Given the description of an element on the screen output the (x, y) to click on. 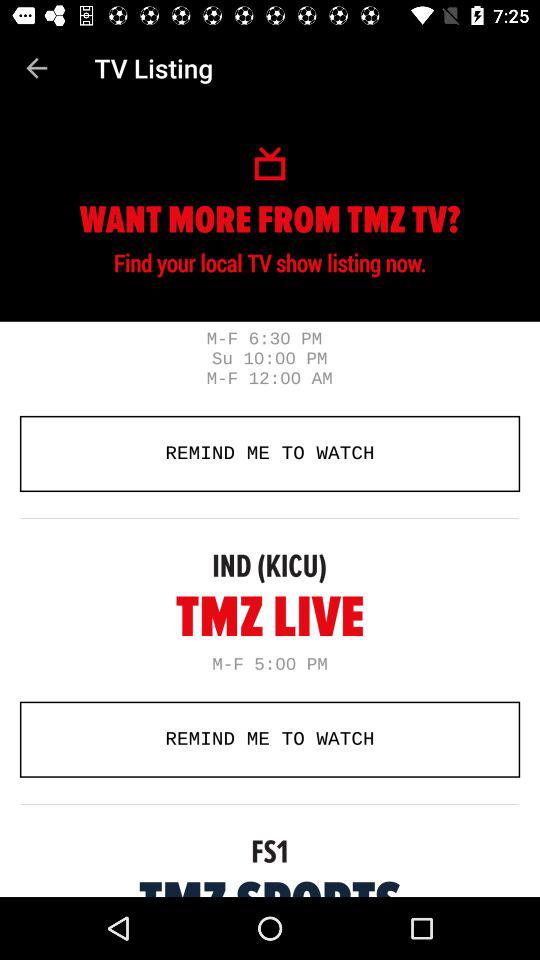
click item next to the tv listing (36, 68)
